Given the description of an element on the screen output the (x, y) to click on. 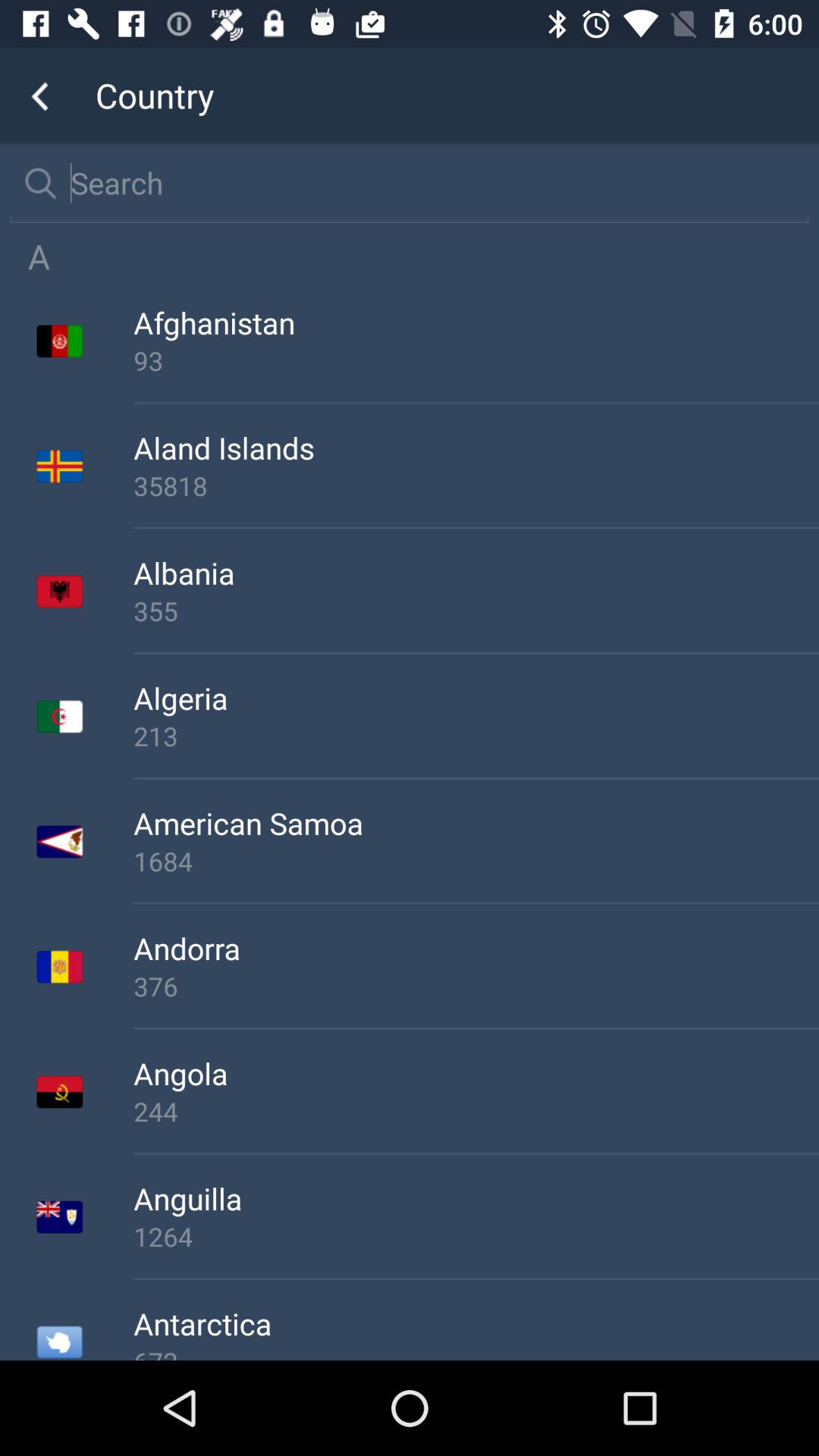
turn on the app below anguilla icon (476, 1236)
